Given the description of an element on the screen output the (x, y) to click on. 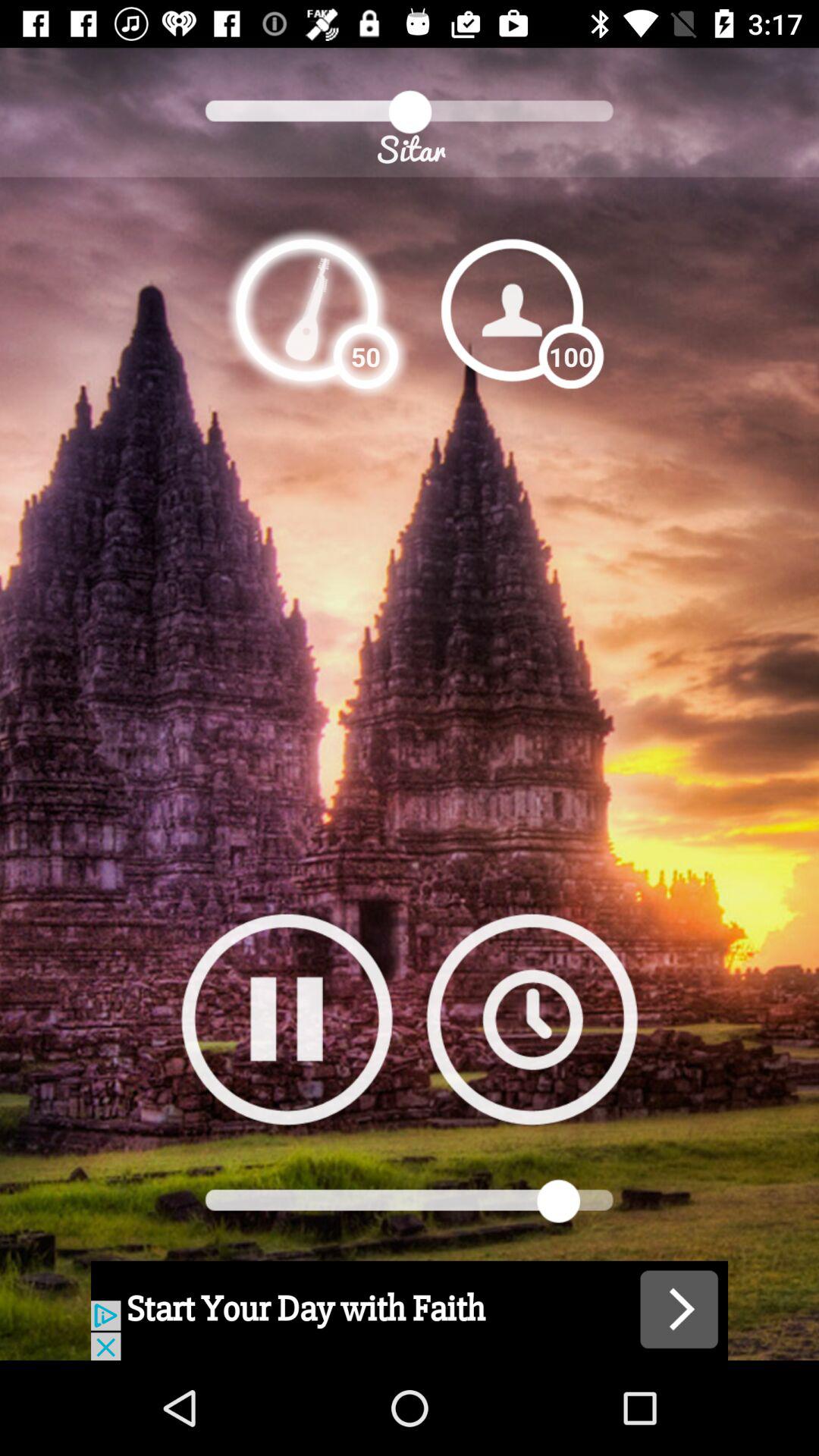
go to advertisement (409, 1310)
